Given the description of an element on the screen output the (x, y) to click on. 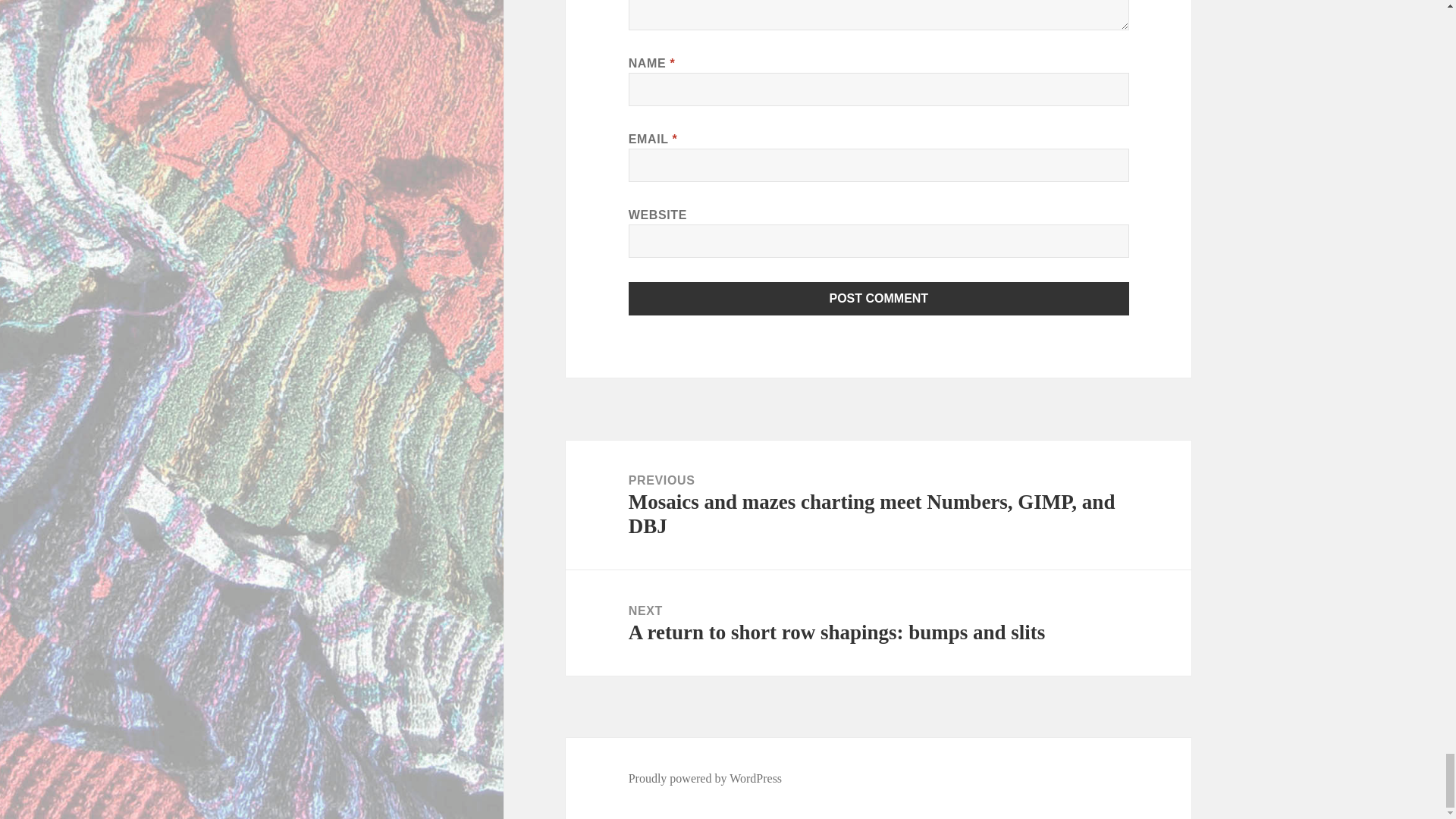
Post Comment (878, 298)
